Given the description of an element on the screen output the (x, y) to click on. 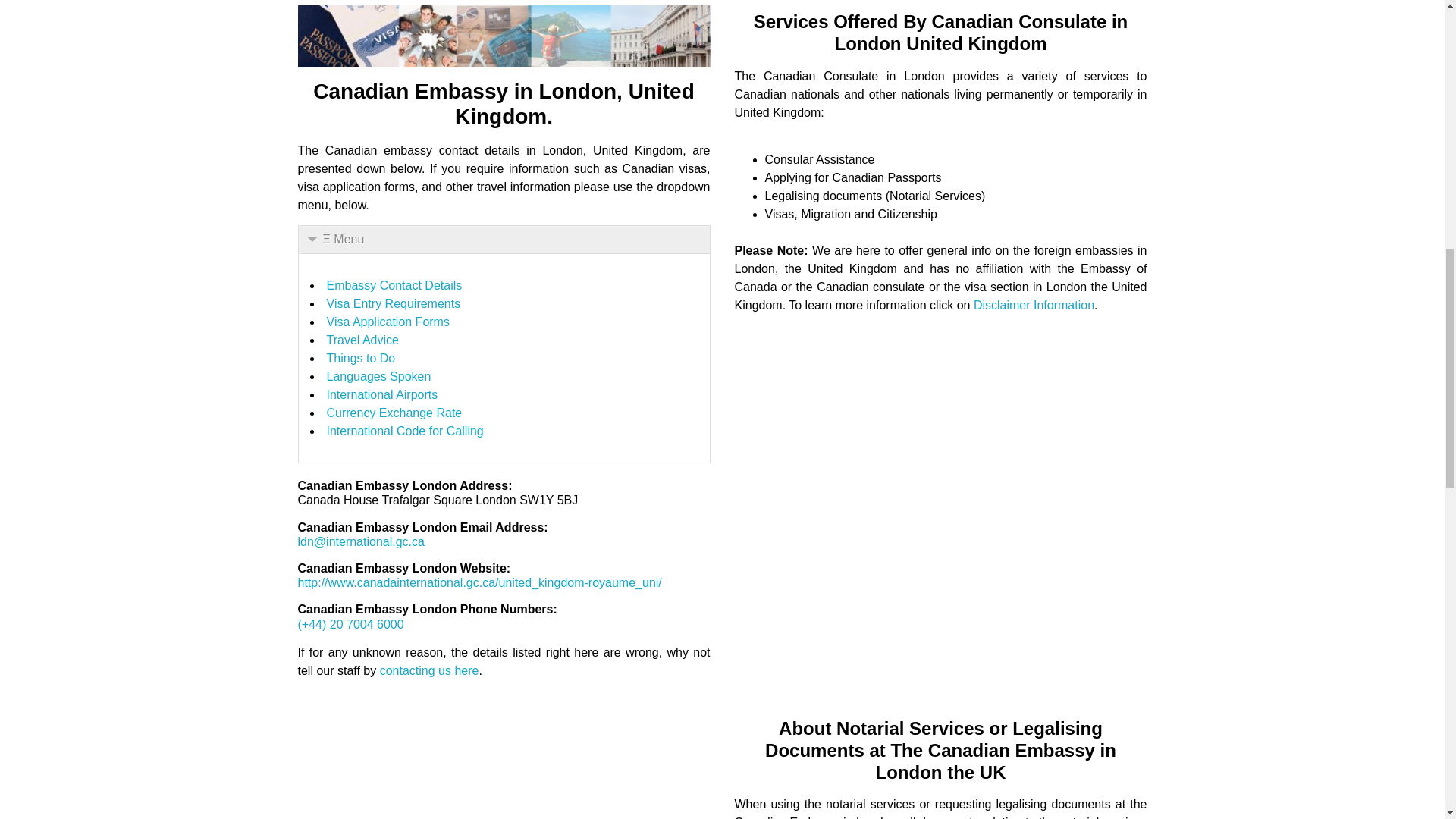
Travel Advice (361, 339)
Languages Spoken (378, 376)
Things to Do (360, 358)
International Airports (382, 394)
Visa Entry Requirements (393, 303)
Embassy Contact Details (393, 285)
Visa Application Forms (387, 321)
Currency Exchange Rate (393, 412)
International Code for Calling (404, 431)
Disclaimer Information (1034, 305)
contacting us here (429, 670)
